Given the description of an element on the screen output the (x, y) to click on. 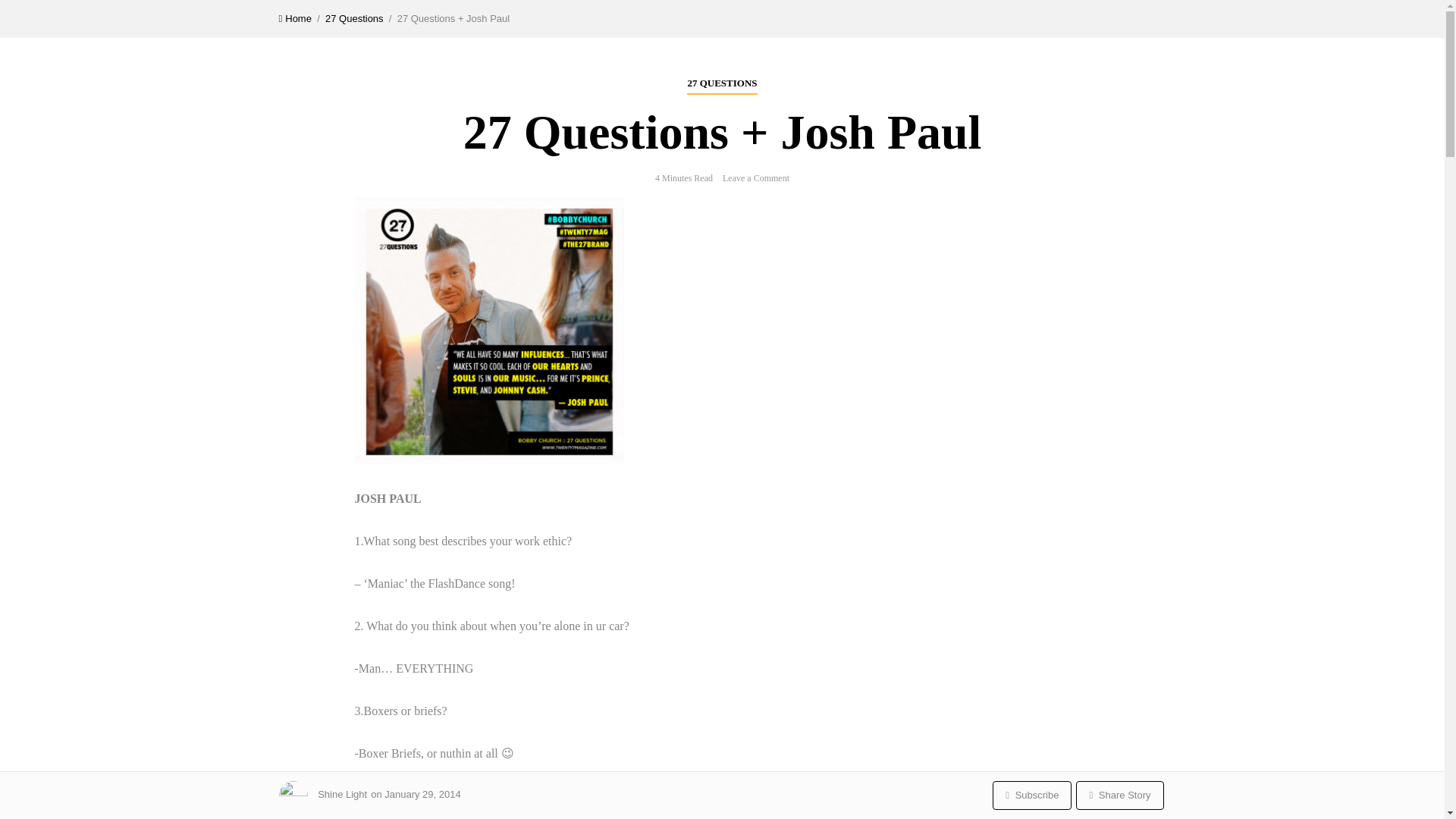
Posts by Shine Light (341, 794)
View all posts in 27 Questions (722, 85)
Shine Light (341, 794)
Subscribe (1032, 794)
